Given the description of an element on the screen output the (x, y) to click on. 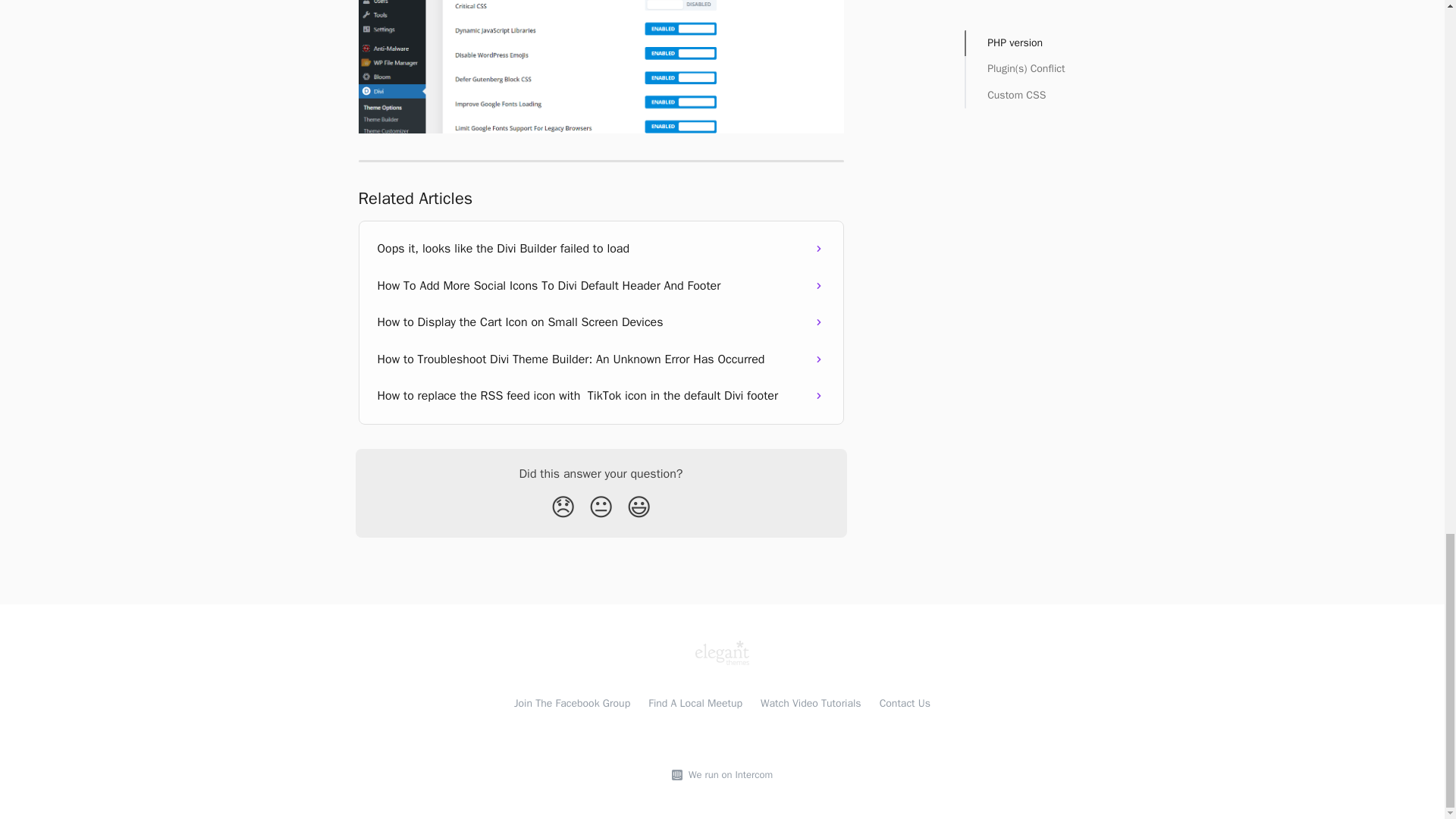
Find A Local Meetup (694, 703)
We run on Intercom (727, 774)
Oops it, looks like the Divi Builder failed to load (601, 248)
Contact Us (904, 703)
Watch Video Tutorials (810, 703)
How to Display the Cart Icon on Small Screen Devices (601, 321)
Join The Facebook Group (571, 703)
